Given the description of an element on the screen output the (x, y) to click on. 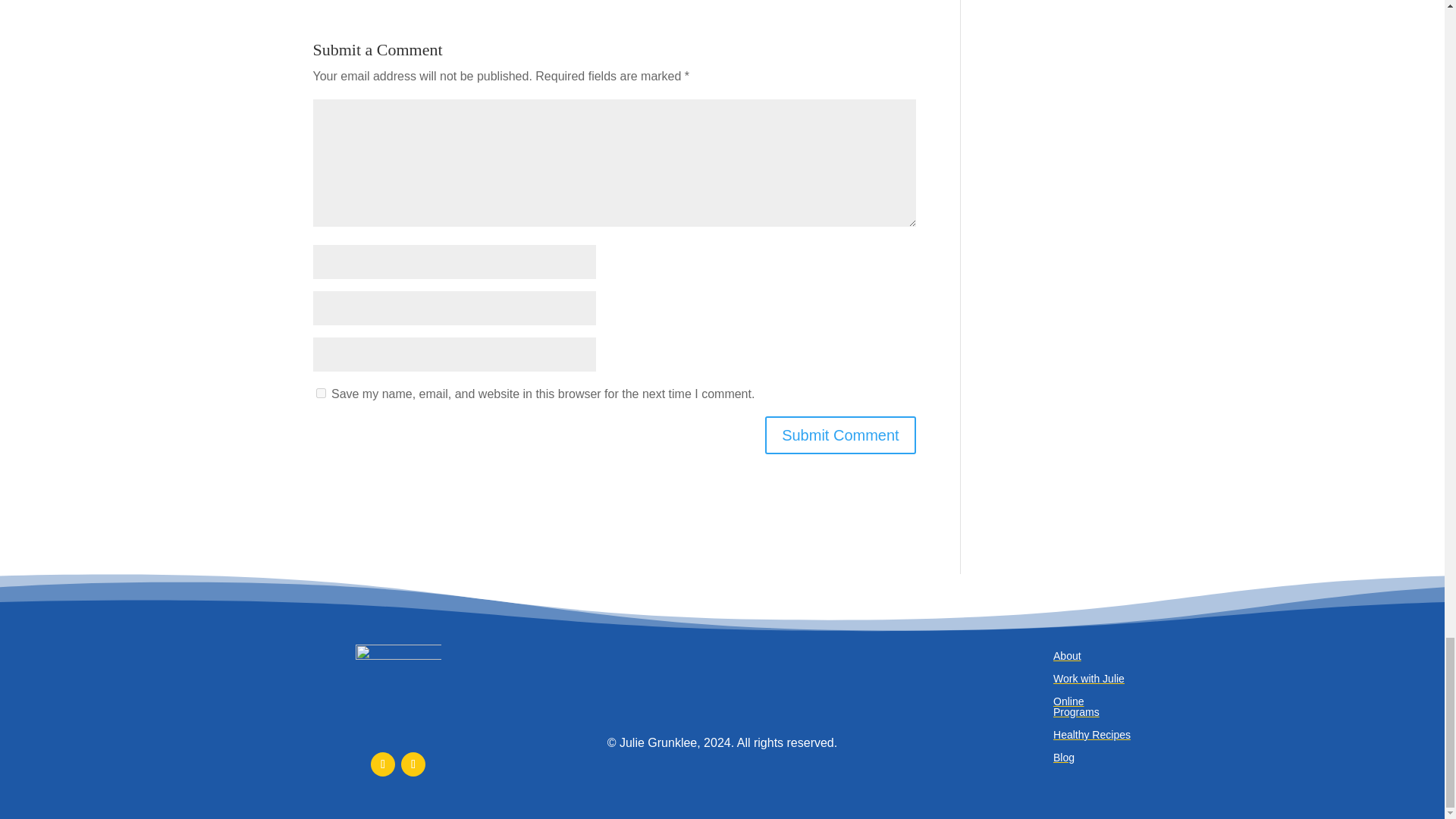
android-chrome-512x512 (398, 687)
Follow on Facebook (382, 764)
yes (319, 393)
Submit Comment (840, 435)
Submit Comment (840, 435)
Follow on Instagram (413, 764)
